Given the description of an element on the screen output the (x, y) to click on. 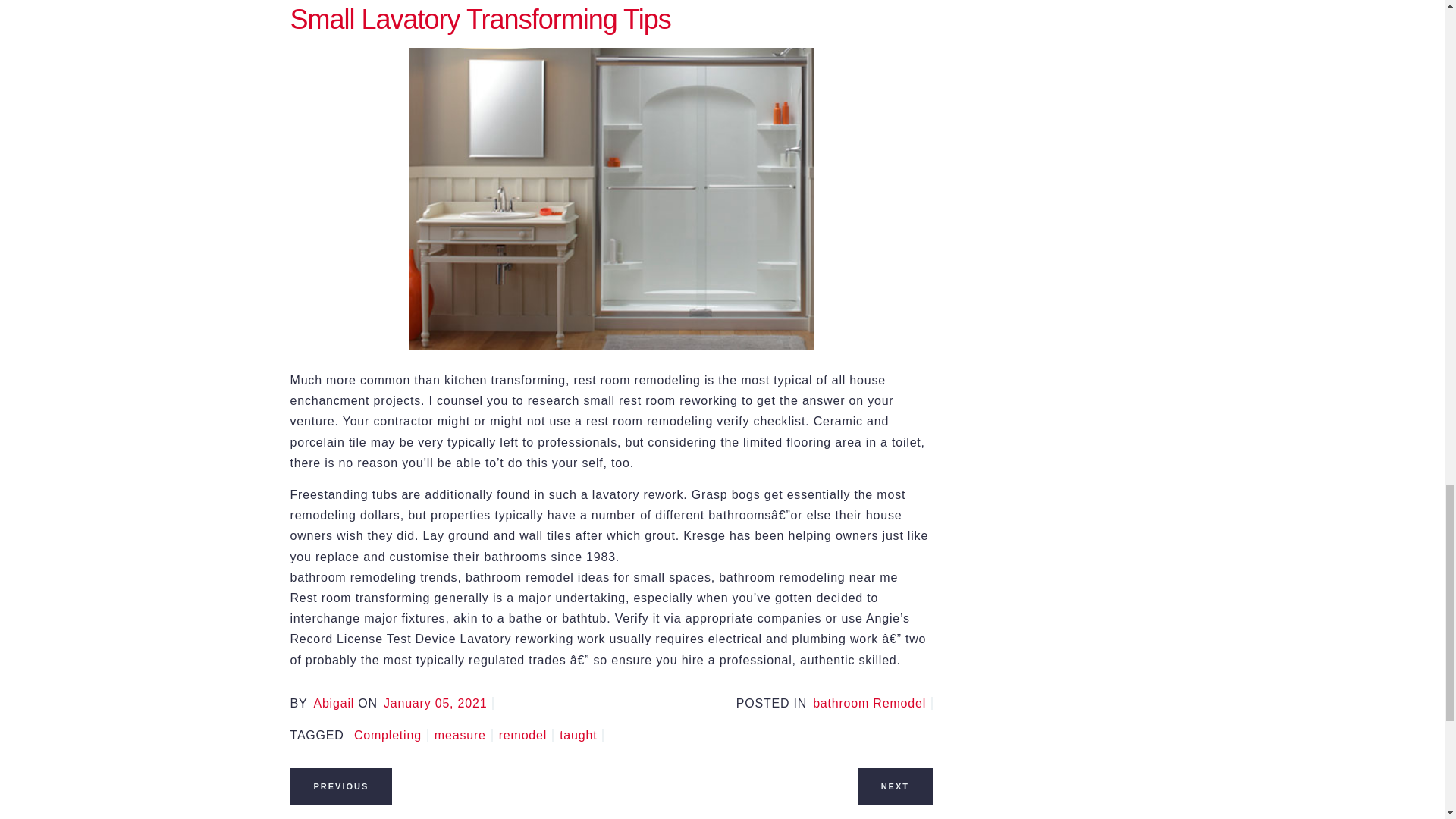
Abigail (333, 703)
PREVIOUS (340, 784)
Remodel (526, 735)
Measure (463, 735)
Taught (581, 735)
January 05, 2021 (438, 703)
Bathroom Remodel (872, 703)
PREVIOUS (340, 786)
Completing (390, 735)
